Given the description of an element on the screen output the (x, y) to click on. 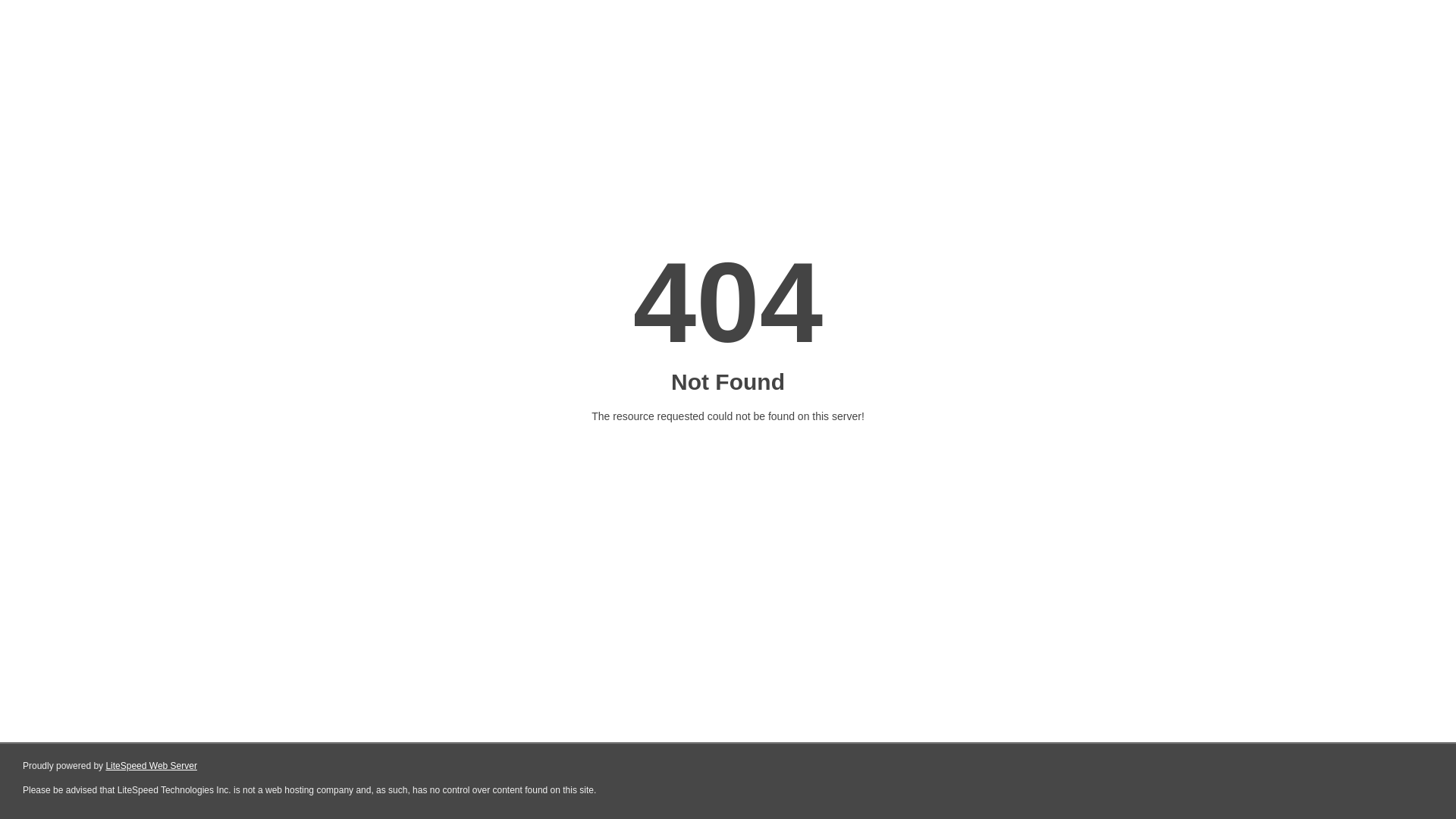
LiteSpeed Web Server Element type: text (151, 765)
